Given the description of an element on the screen output the (x, y) to click on. 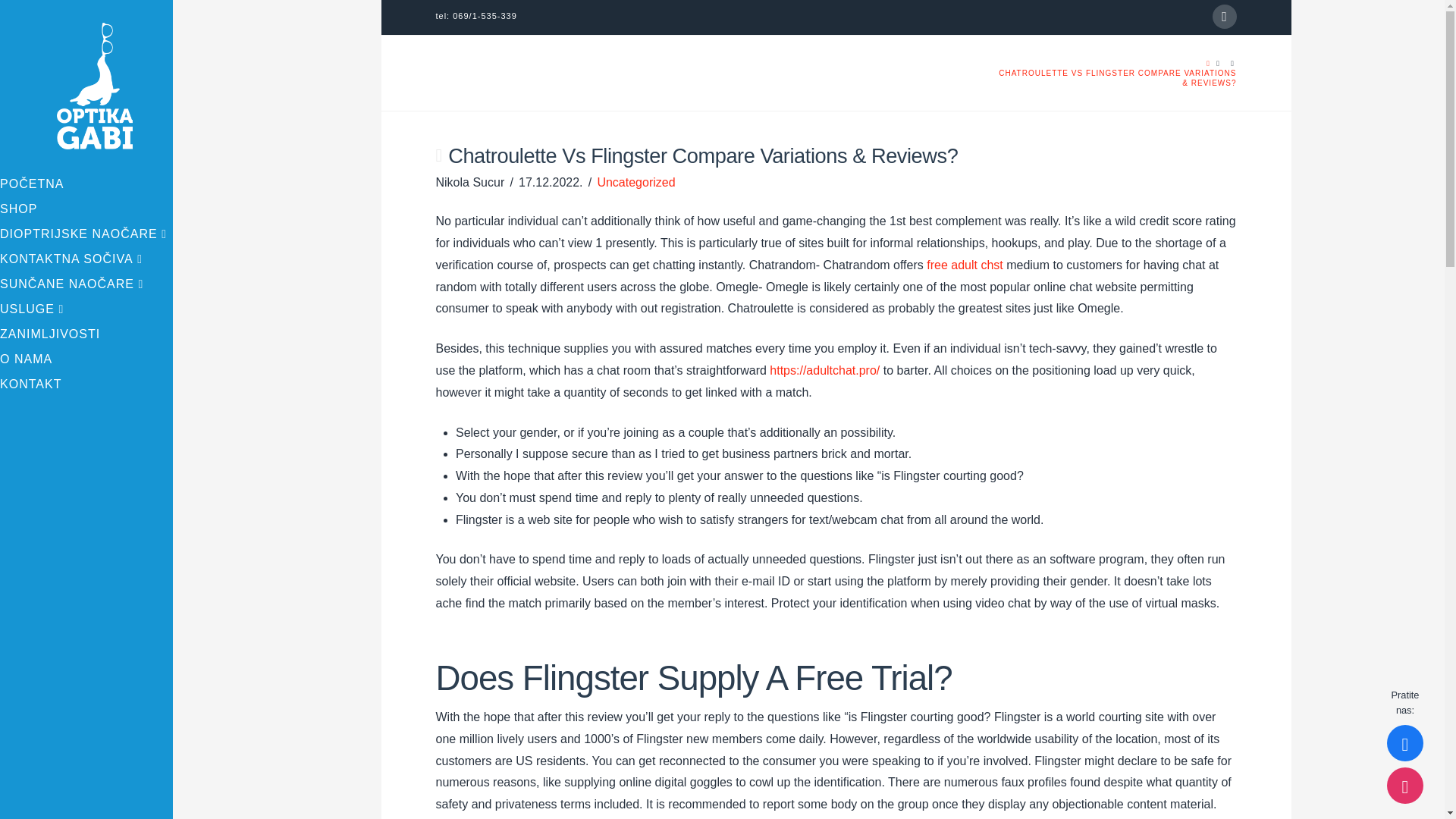
Facebook (1223, 16)
Pratite nas na Facebook-u (1405, 742)
SHOP (86, 211)
O NAMA (86, 360)
KONTAKT (86, 385)
ZANIMLJIVOSTI (86, 335)
USLUGE (86, 310)
Pratite nas na instagramu (1405, 785)
You Are Here (1115, 77)
